Given the description of an element on the screen output the (x, y) to click on. 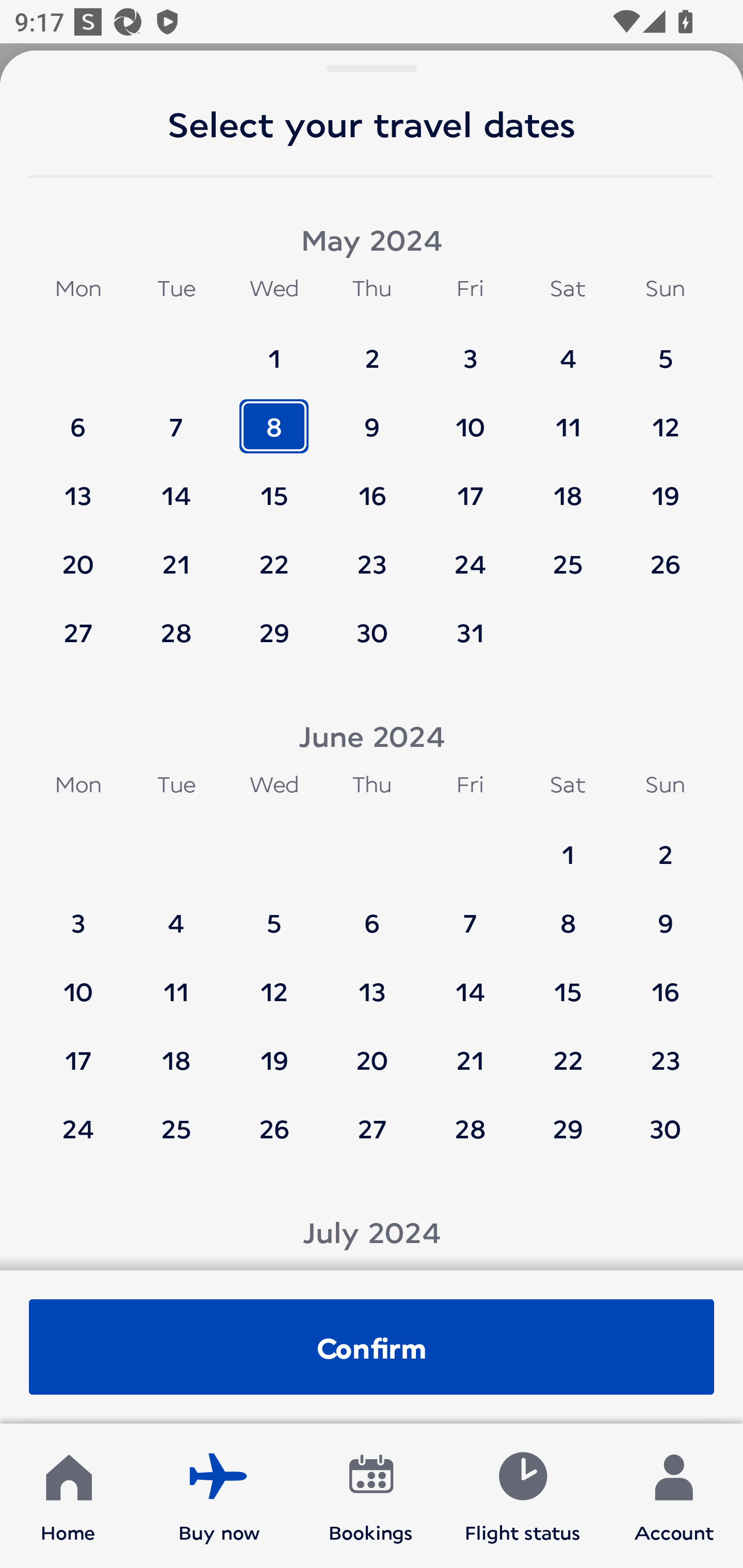
1 (274, 348)
2 (372, 348)
3 (470, 348)
4 (567, 348)
5 (665, 348)
6 (77, 416)
7 (176, 416)
8 (274, 416)
9 (372, 416)
10 (470, 416)
11 (567, 416)
12 (665, 416)
13 (77, 485)
14 (176, 485)
15 (274, 485)
16 (372, 485)
17 (470, 485)
18 (567, 485)
19 (665, 485)
20 (77, 554)
21 (176, 554)
22 (274, 554)
23 (372, 554)
24 (470, 554)
25 (567, 554)
26 (665, 554)
27 (77, 632)
28 (176, 632)
29 (274, 632)
30 (372, 632)
31 (470, 632)
1 (567, 844)
2 (665, 844)
3 (77, 913)
4 (176, 913)
5 (274, 913)
6 (372, 913)
7 (470, 913)
8 (567, 913)
9 (665, 913)
10 (77, 982)
11 (176, 982)
12 (274, 982)
13 (372, 982)
14 (470, 982)
15 (567, 982)
16 (665, 982)
17 (77, 1050)
18 (176, 1050)
19 (274, 1050)
20 (372, 1050)
21 (470, 1050)
22 (567, 1050)
23 (665, 1050)
24 (77, 1128)
25 (176, 1128)
26 (274, 1128)
27 (372, 1128)
28 (470, 1128)
29 (567, 1128)
30 (665, 1128)
Confirm (371, 1346)
Home (68, 1495)
Bookings (370, 1495)
Flight status (522, 1495)
Account (674, 1495)
